Given the description of an element on the screen output the (x, y) to click on. 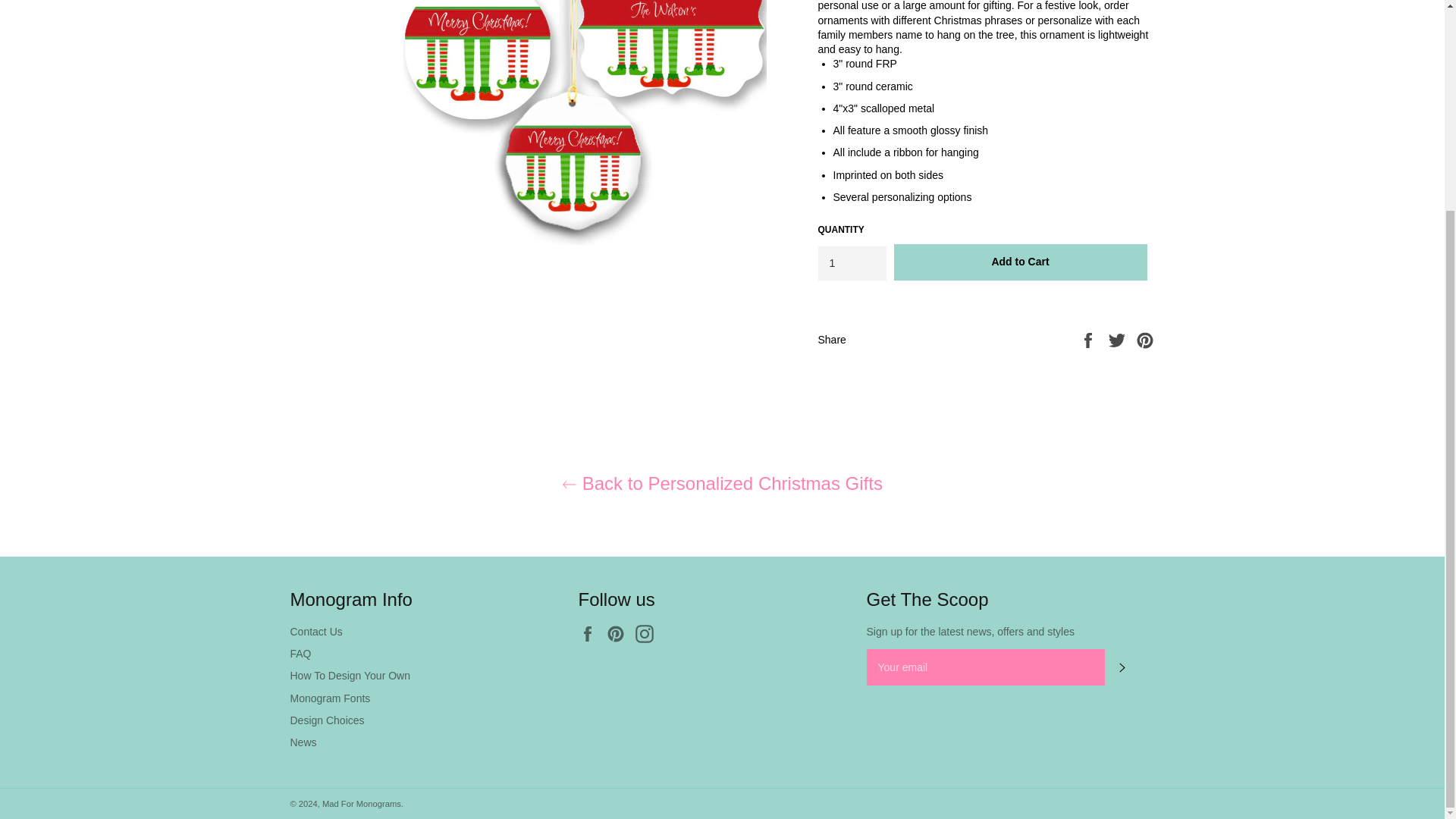
Mad For Monograms on Pinterest (619, 633)
Mad For Monograms on Facebook (591, 633)
Tweet on Twitter (1118, 338)
Mad For Monograms on Instagram (647, 633)
Share on Facebook (1089, 338)
Pin on Pinterest (1144, 338)
1 (850, 263)
